Given the description of an element on the screen output the (x, y) to click on. 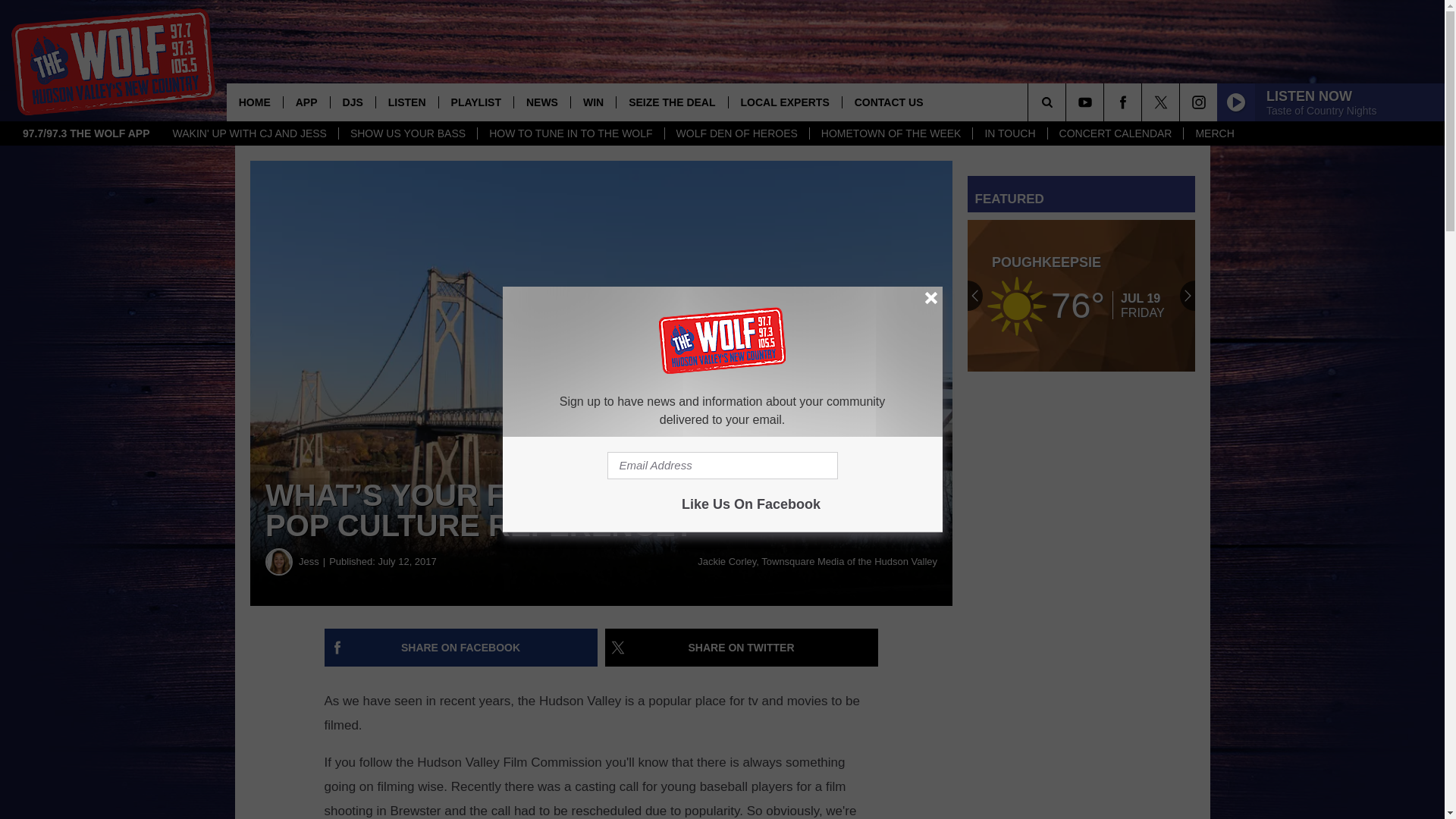
APP (306, 102)
SHOW US YOUR BASS (407, 133)
IN TOUCH (1009, 133)
HOMETOWN OF THE WEEK (890, 133)
HOW TO TUNE IN TO THE WOLF (570, 133)
Email Address (722, 465)
MERCH (1213, 133)
Share on Facebook (460, 647)
LISTEN (406, 102)
WOLF DEN OF HEROES (736, 133)
SEARCH (1068, 102)
DJS (352, 102)
CONCERT CALENDAR (1114, 133)
SEARCH (1068, 102)
PLAYLIST (475, 102)
